Given the description of an element on the screen output the (x, y) to click on. 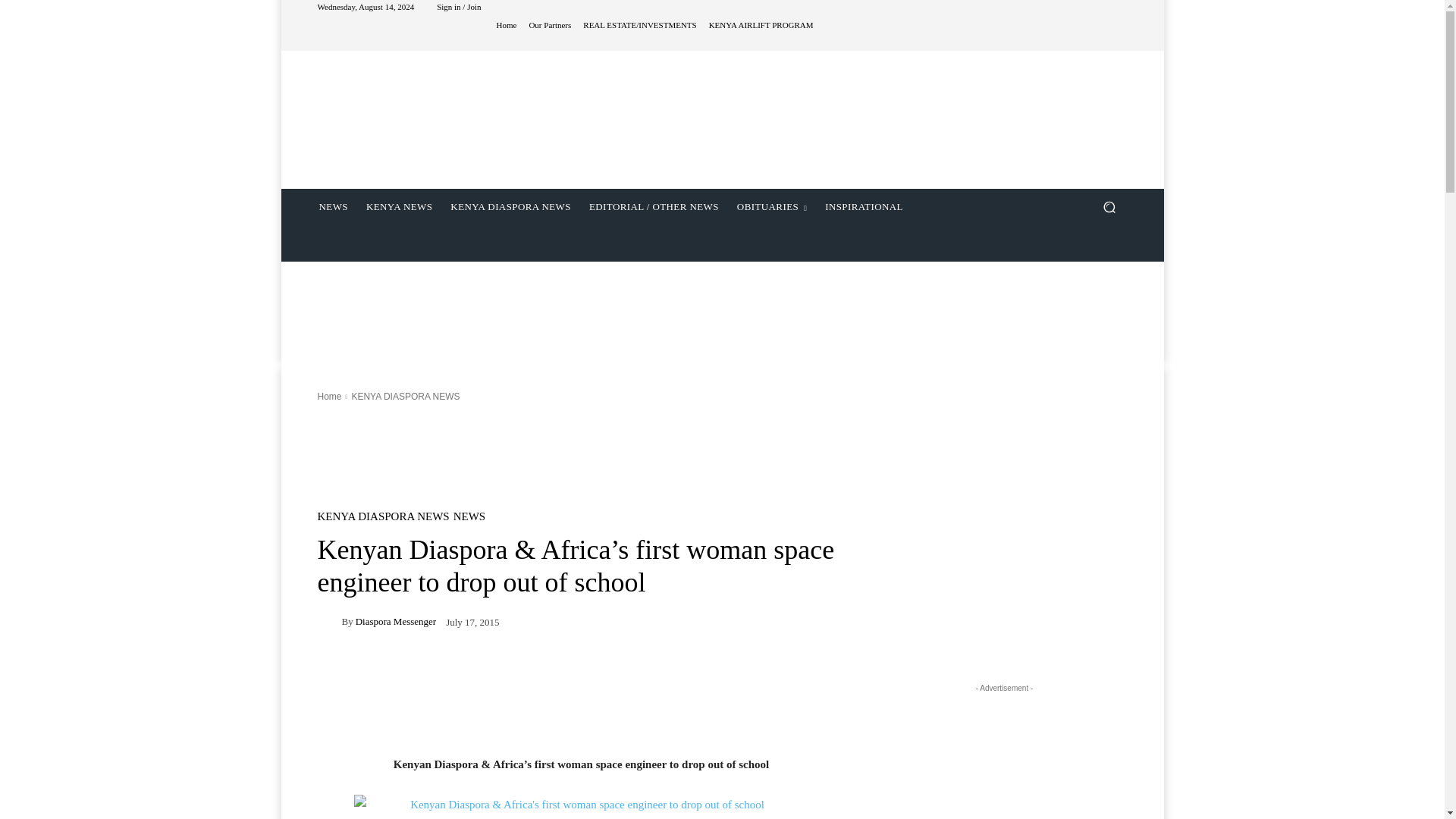
KENYA DIASPORA NEWS (510, 207)
KENYA AIRLIFT PROGRAM (761, 25)
KENYA NEWS (398, 207)
NEWS (332, 207)
Our Partners (549, 25)
Home (506, 25)
Diaspora Messenger (427, 101)
OBITUARIES (771, 207)
